Given the description of an element on the screen output the (x, y) to click on. 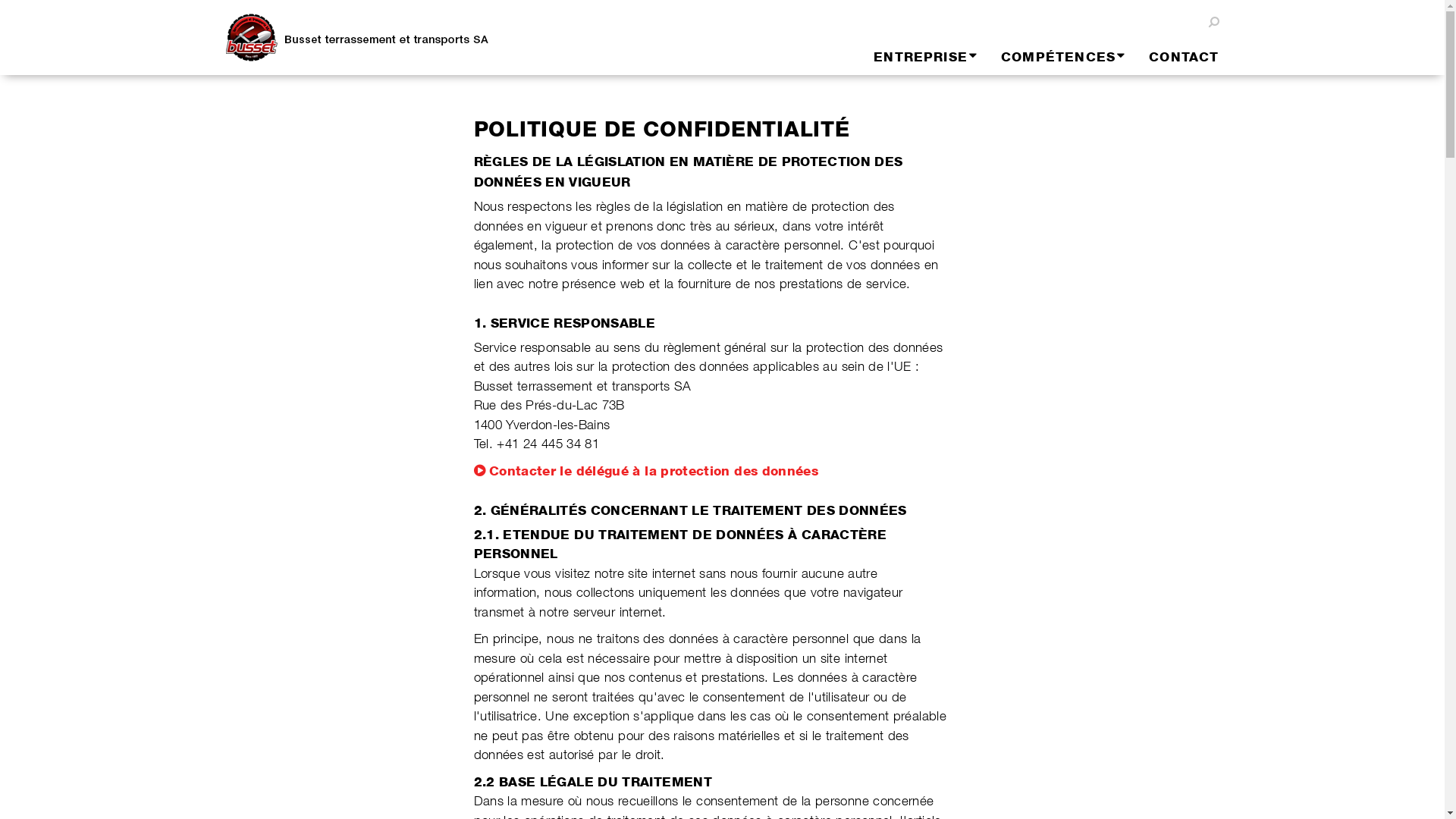
ENTREPRISE Element type: text (913, 56)
CONTACT Element type: text (1171, 56)
Busset Terrassement et Transports SA (fr) Element type: hover (369, 37)
